Given the description of an element on the screen output the (x, y) to click on. 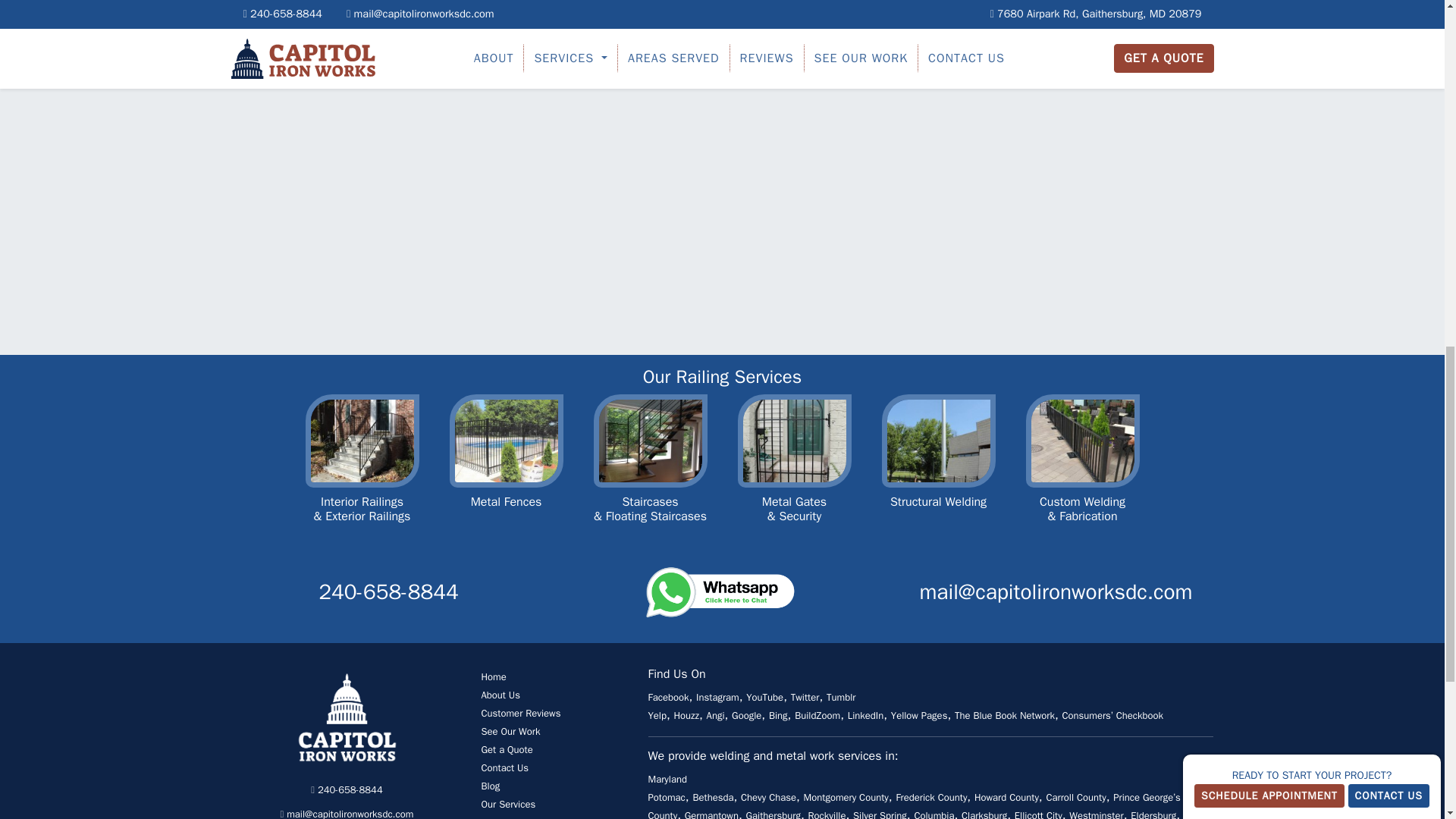
Blog (489, 785)
About Us (499, 694)
Get a Quote (506, 748)
240-658-8844 (388, 591)
Metal Fences (505, 471)
See Our Work (510, 730)
Customer Reviews (520, 712)
Home (492, 676)
Structural Welding (937, 471)
Contact Us (504, 767)
240-658-8844 (346, 789)
